Given the description of an element on the screen output the (x, y) to click on. 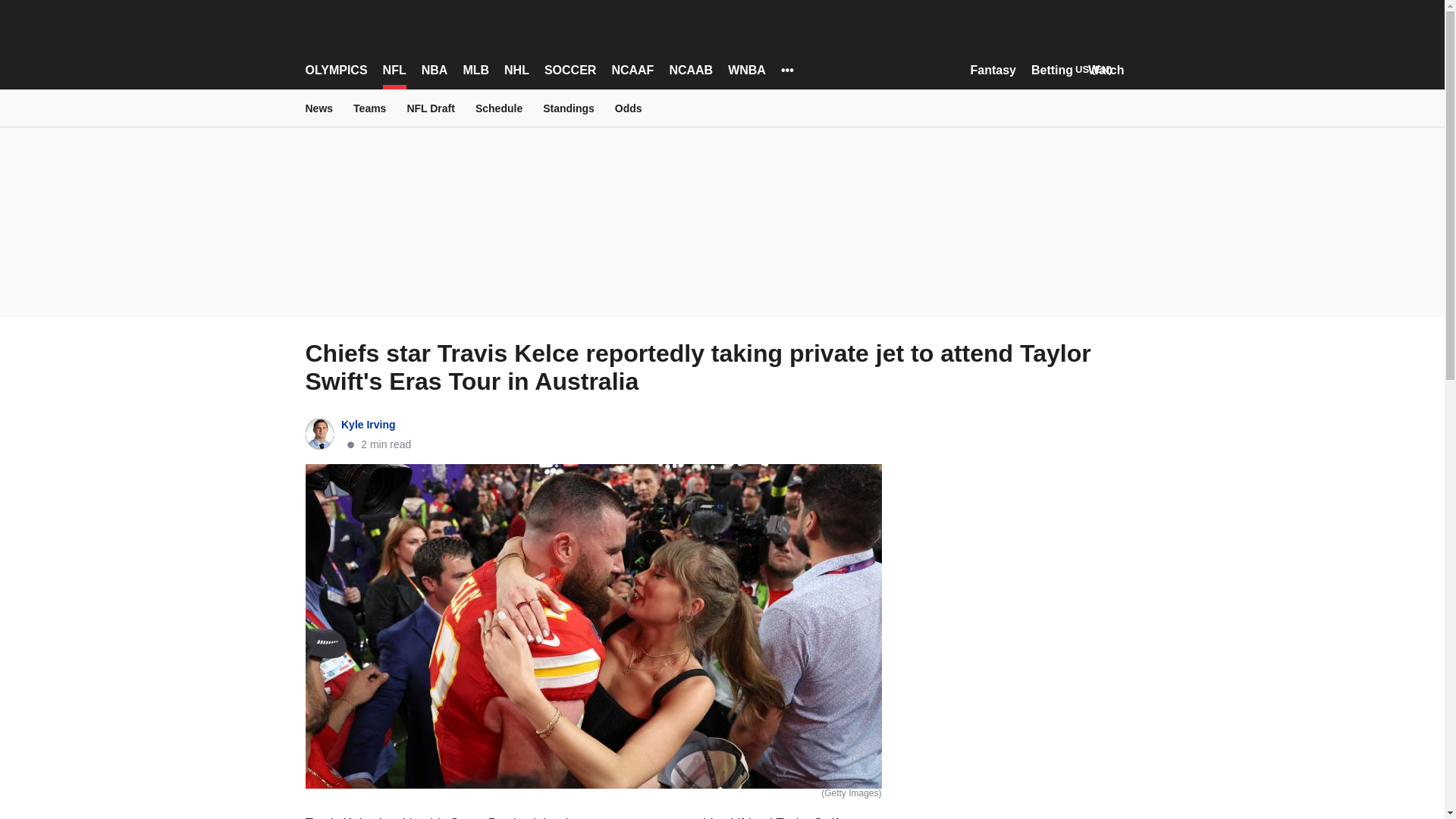
WNBA (746, 70)
SOCCER (569, 70)
OLYMPICS (335, 70)
NCAAB (690, 70)
NCAAF (632, 70)
